Given the description of an element on the screen output the (x, y) to click on. 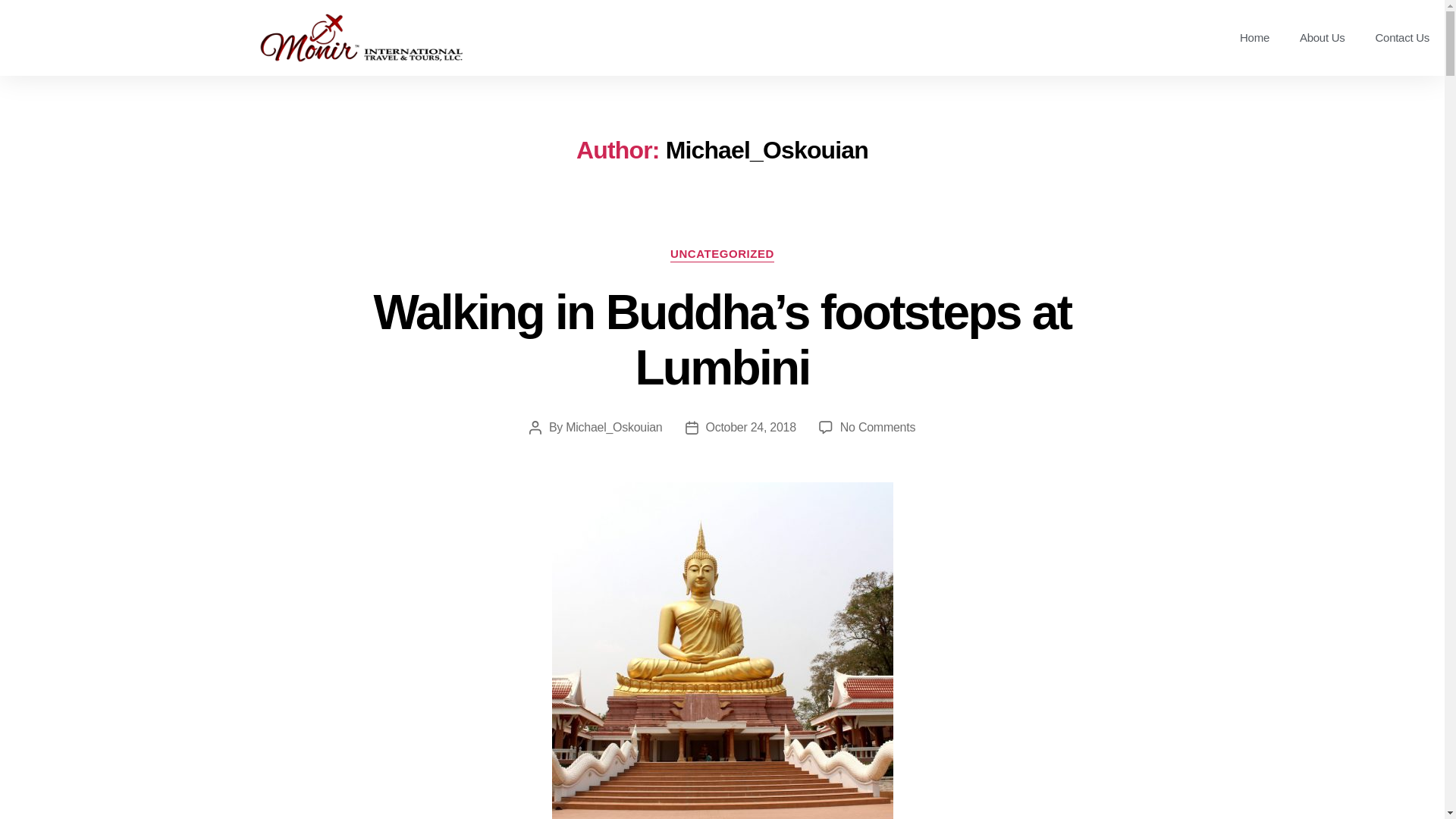
About Us (1321, 38)
No Comments (877, 427)
October 24, 2018 (749, 427)
UNCATEGORIZED (721, 254)
